Given the description of an element on the screen output the (x, y) to click on. 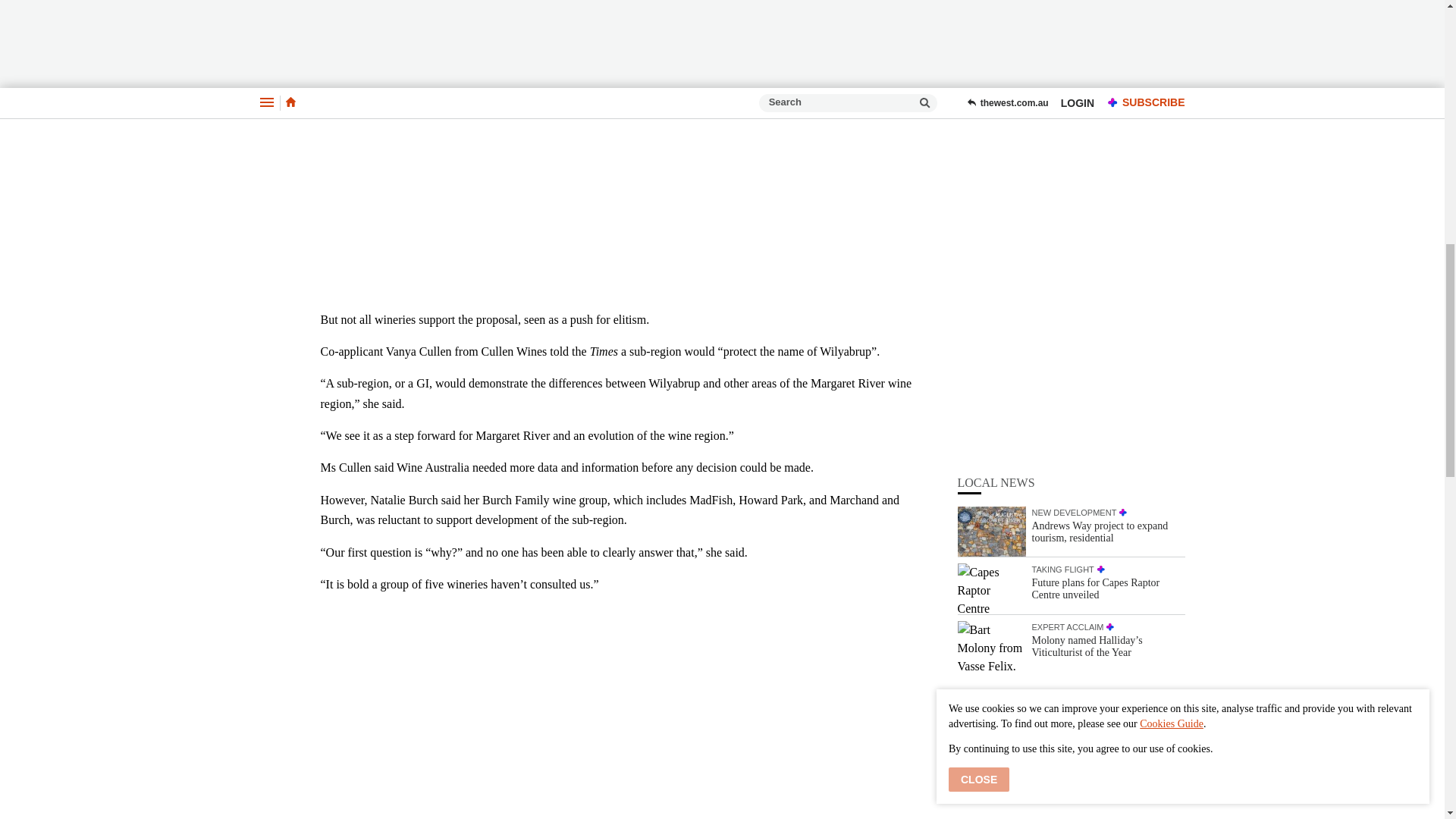
PREMIUM (1101, 214)
PREMIUM (1123, 158)
PREMIUM (1110, 272)
